Given the description of an element on the screen output the (x, y) to click on. 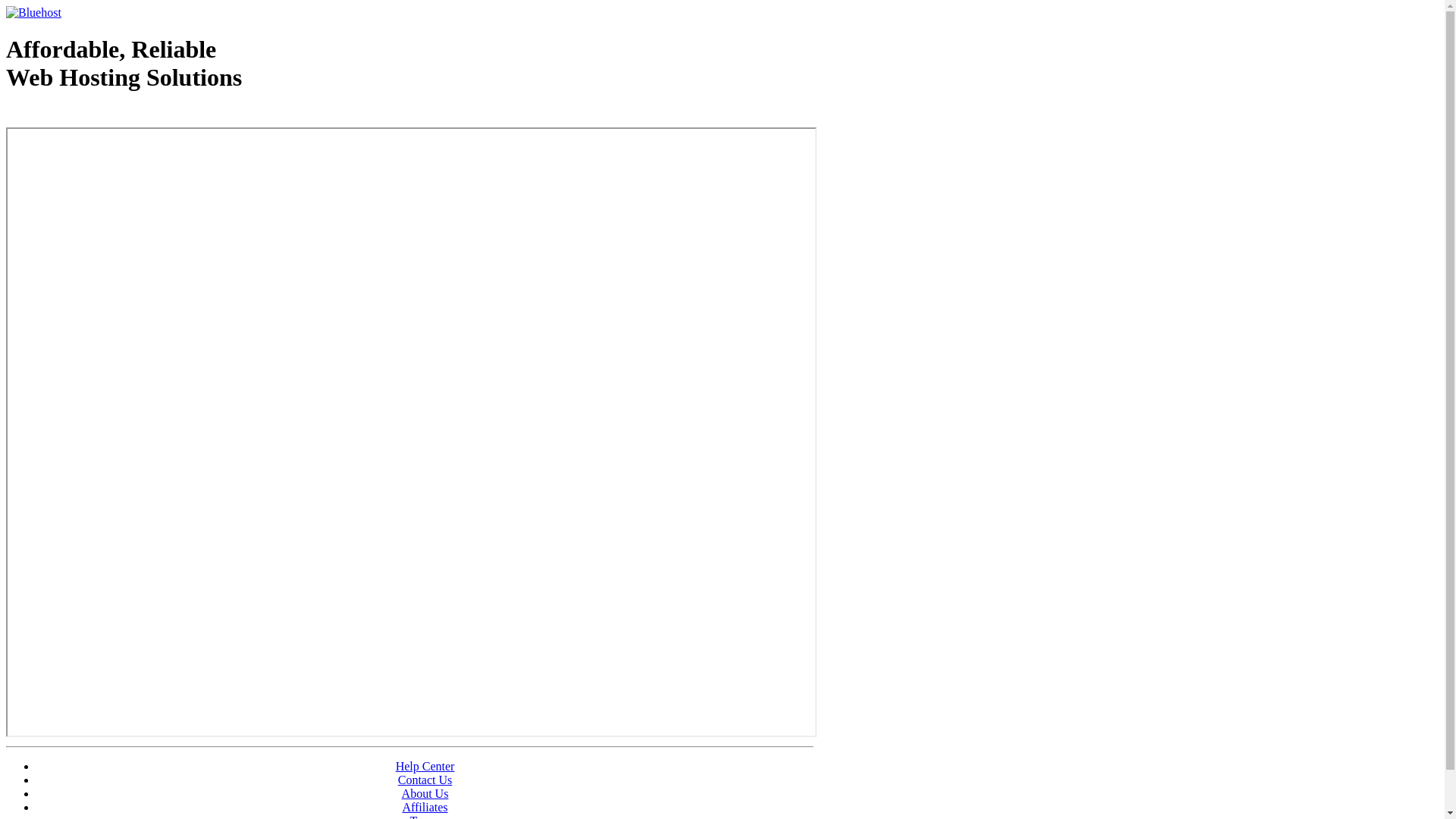
Web Hosting - courtesy of www.bluehost.com Element type: text (94, 115)
Contact Us Element type: text (425, 779)
Affiliates Element type: text (424, 806)
About Us Element type: text (424, 793)
Help Center Element type: text (425, 765)
